Given the description of an element on the screen output the (x, y) to click on. 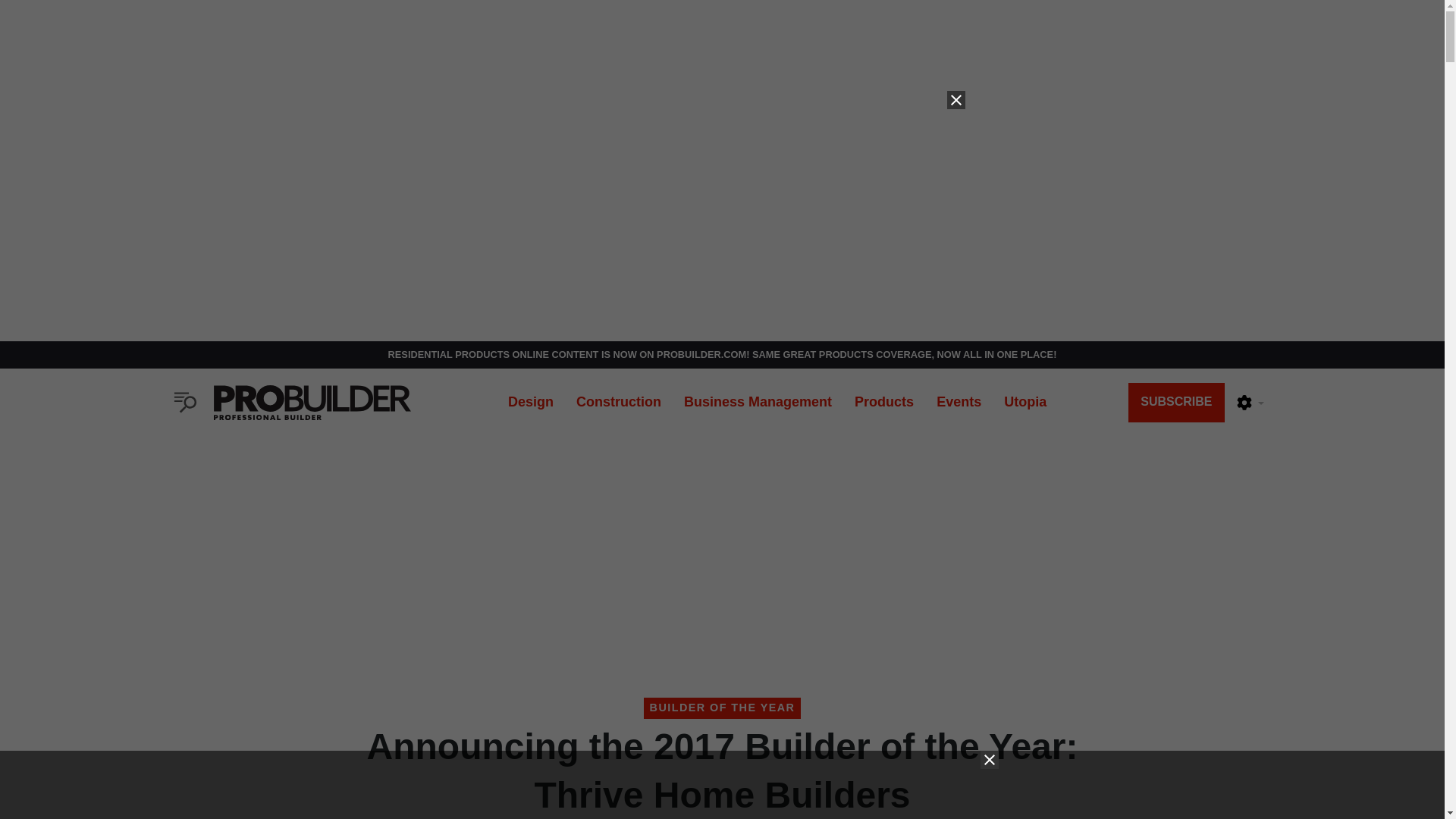
Products (883, 402)
Construction (618, 402)
Utopia (1025, 402)
Events (958, 402)
Business Management (757, 402)
SUBSCRIBE (1176, 402)
BUILDER OF THE YEAR (722, 707)
3rd party ad content (721, 785)
Design (530, 402)
